Given the description of an element on the screen output the (x, y) to click on. 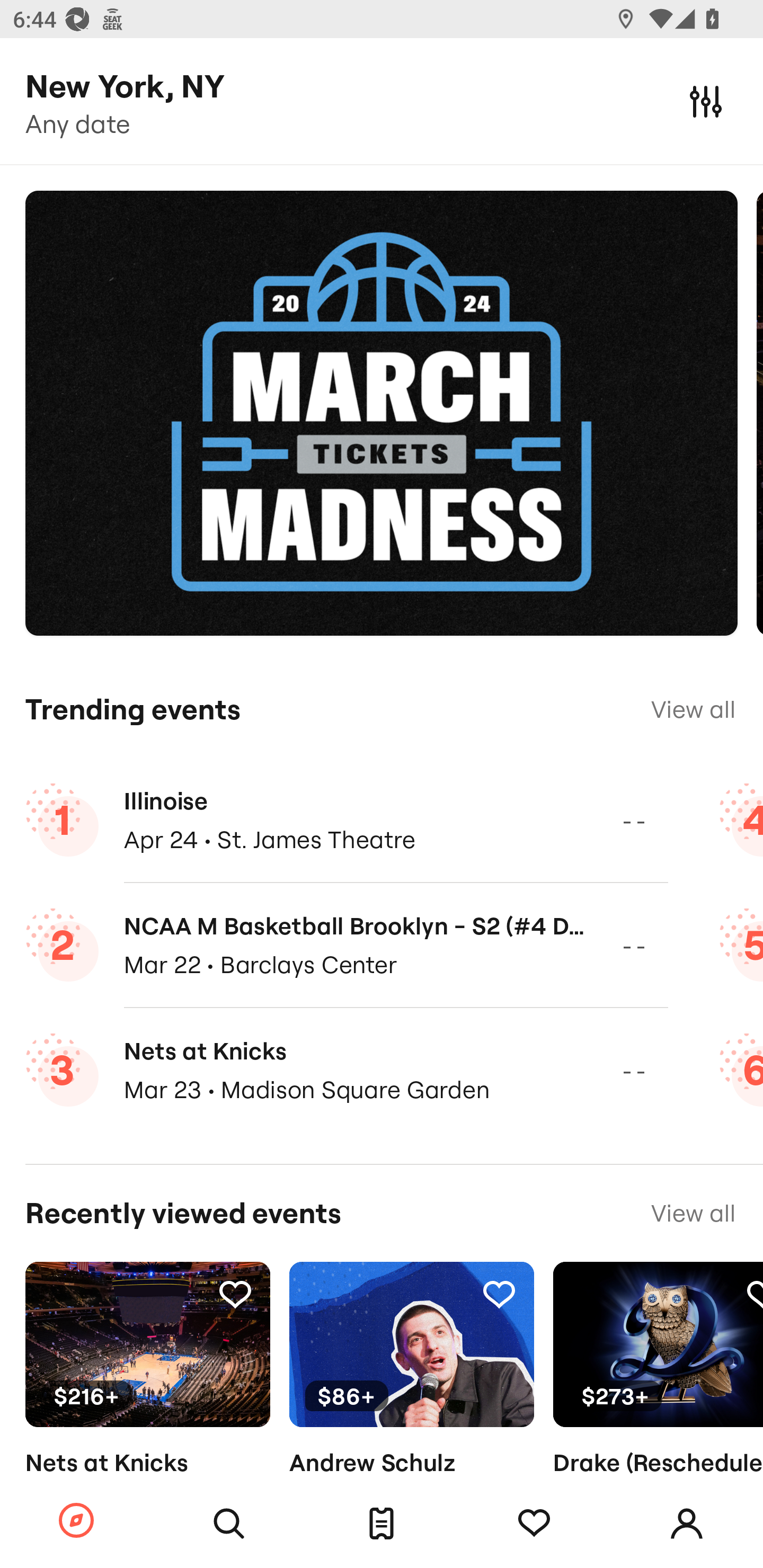
Filters (705, 100)
View all (693, 709)
View all (693, 1213)
Tracking $216+ Nets at Knicks Sat, Mar 23, 1 PM (147, 1399)
Tracking $86+ Andrew Schulz Sat, May 4, 8 PM (411, 1399)
Tracking (234, 1293)
Tracking (498, 1293)
Tracking (753, 1293)
Browse (76, 1521)
Search (228, 1523)
Tickets (381, 1523)
Tracking (533, 1523)
Account (686, 1523)
